Given the description of an element on the screen output the (x, y) to click on. 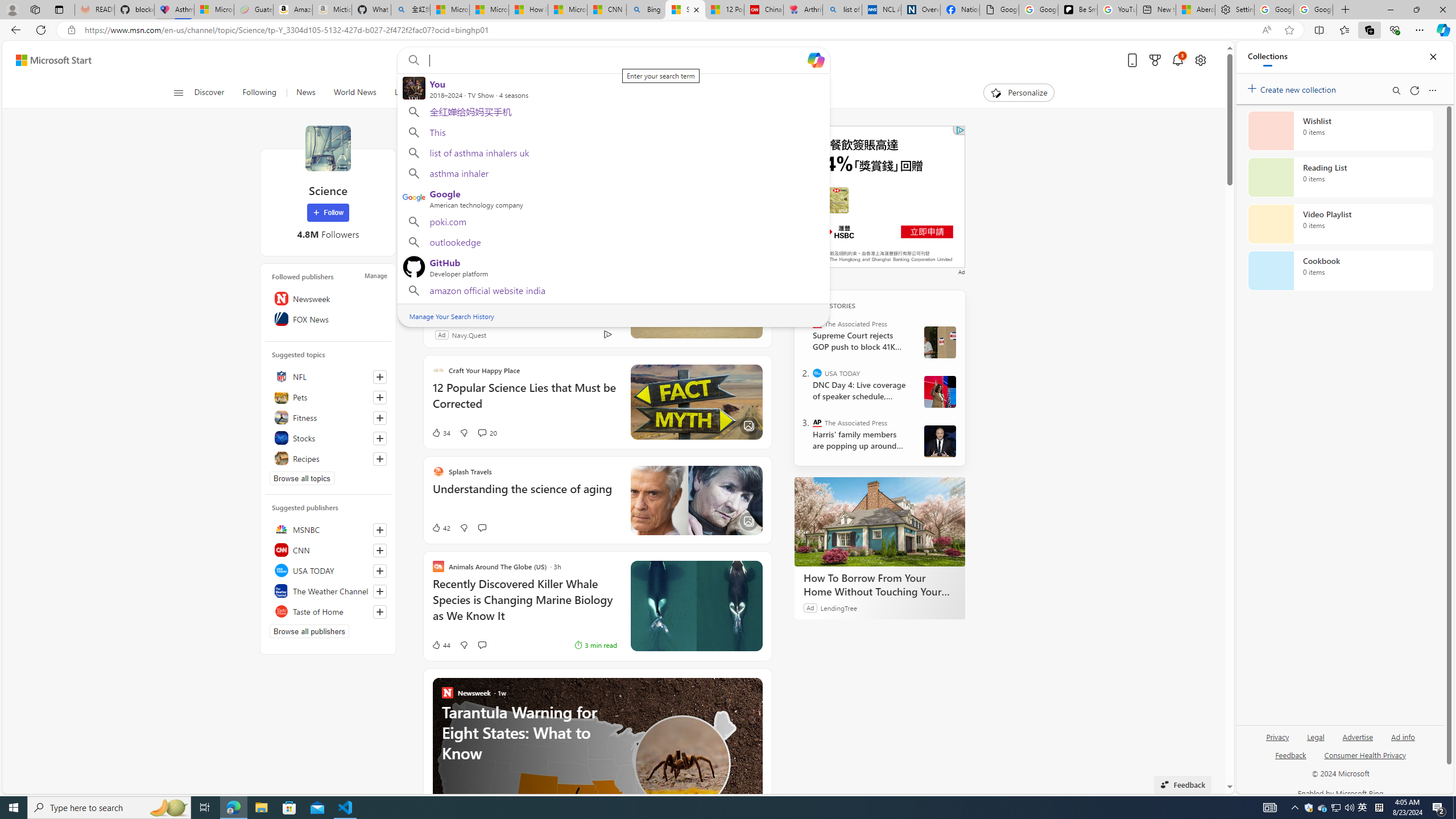
Video Playlist collection, 0 items (1339, 223)
Ad info (1402, 736)
12 Popular Science Lies that Must be Corrected (724, 9)
Legal (1315, 741)
Bing (646, 9)
Privacy (1278, 736)
Advertise (1358, 741)
Privacy (1277, 741)
